Given the description of an element on the screen output the (x, y) to click on. 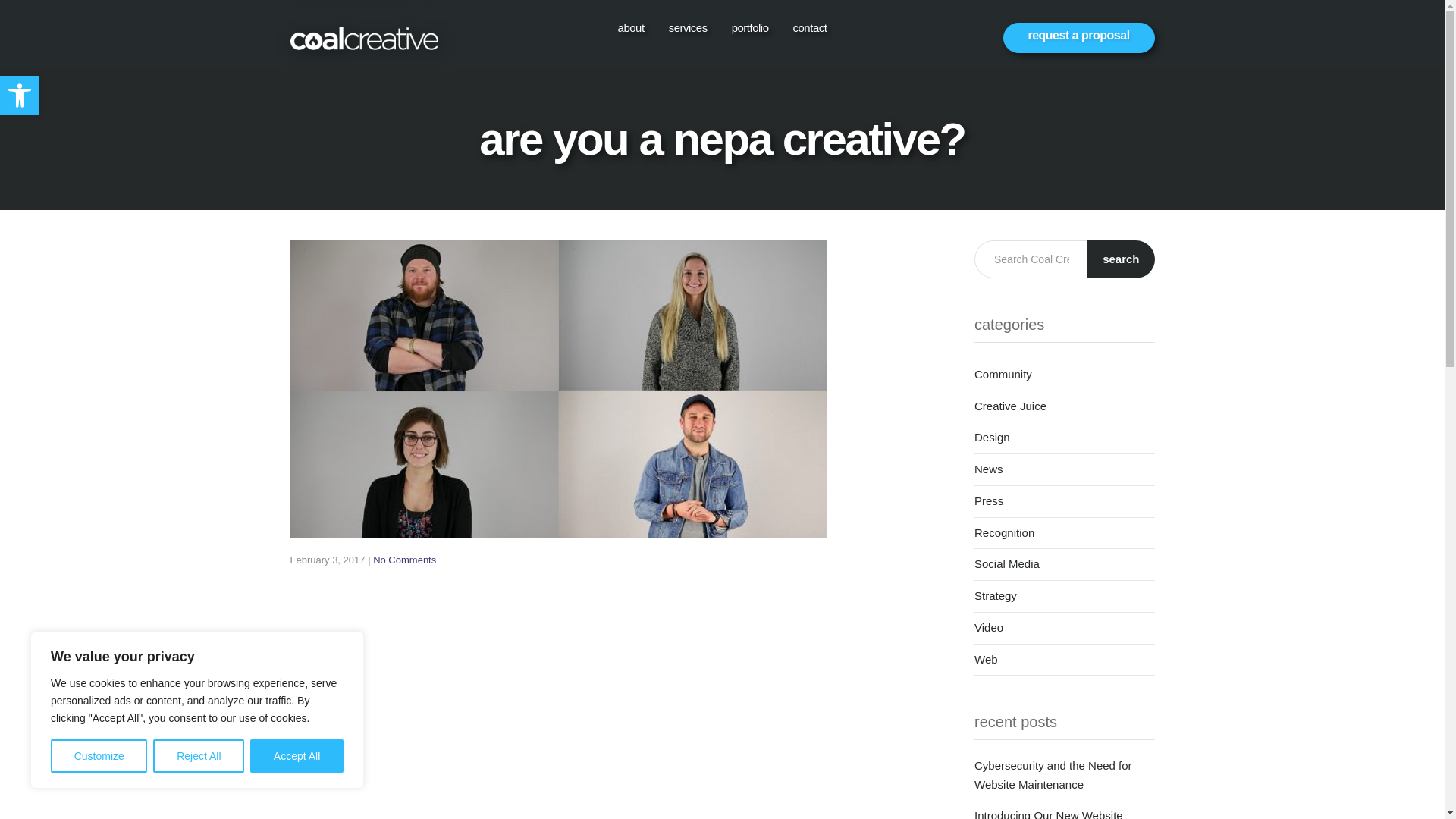
Accept All (296, 756)
Accessibility Tools (19, 95)
Customize (98, 756)
